Given the description of an element on the screen output the (x, y) to click on. 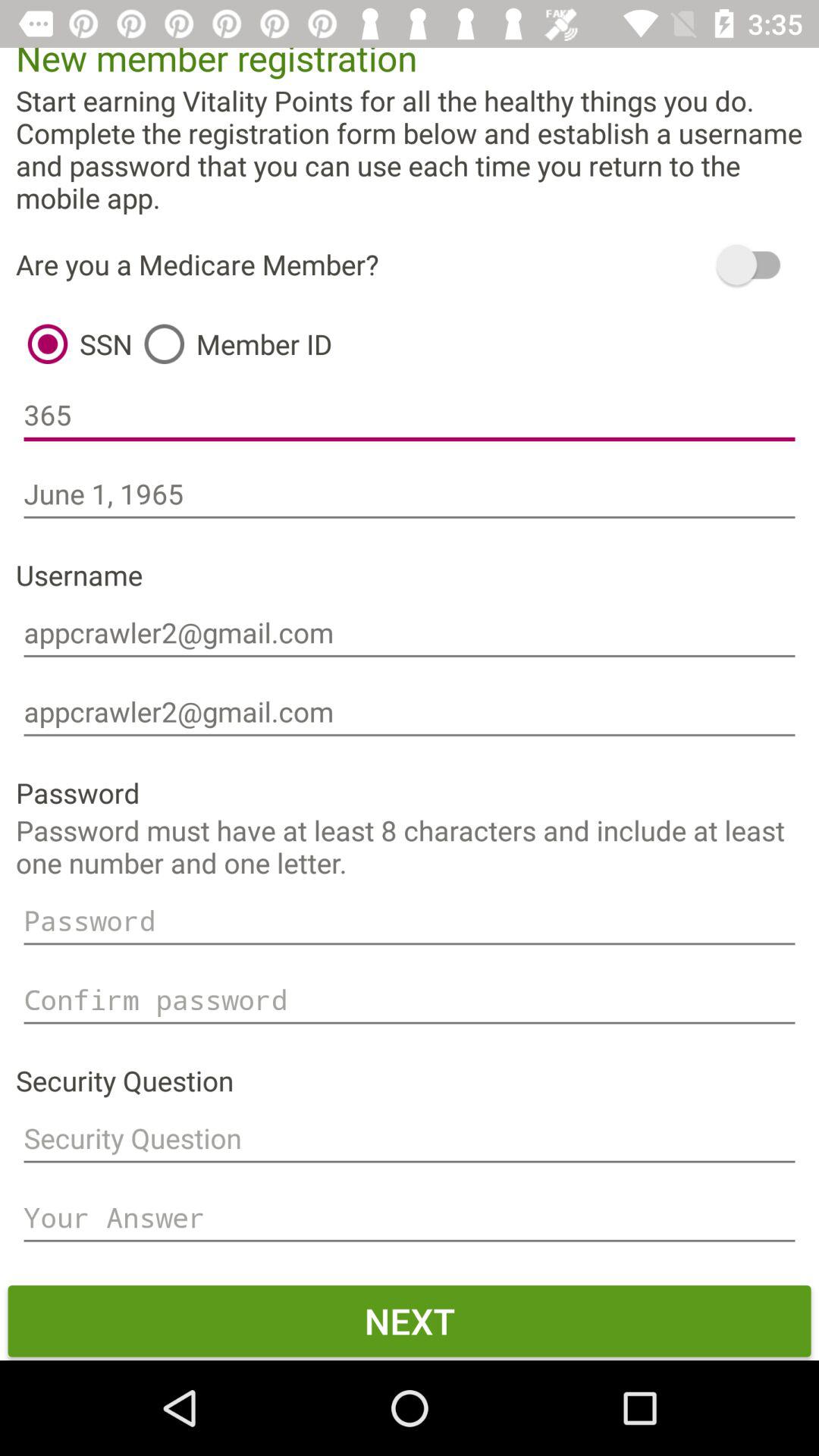
enter your security answer (409, 1217)
